Given the description of an element on the screen output the (x, y) to click on. 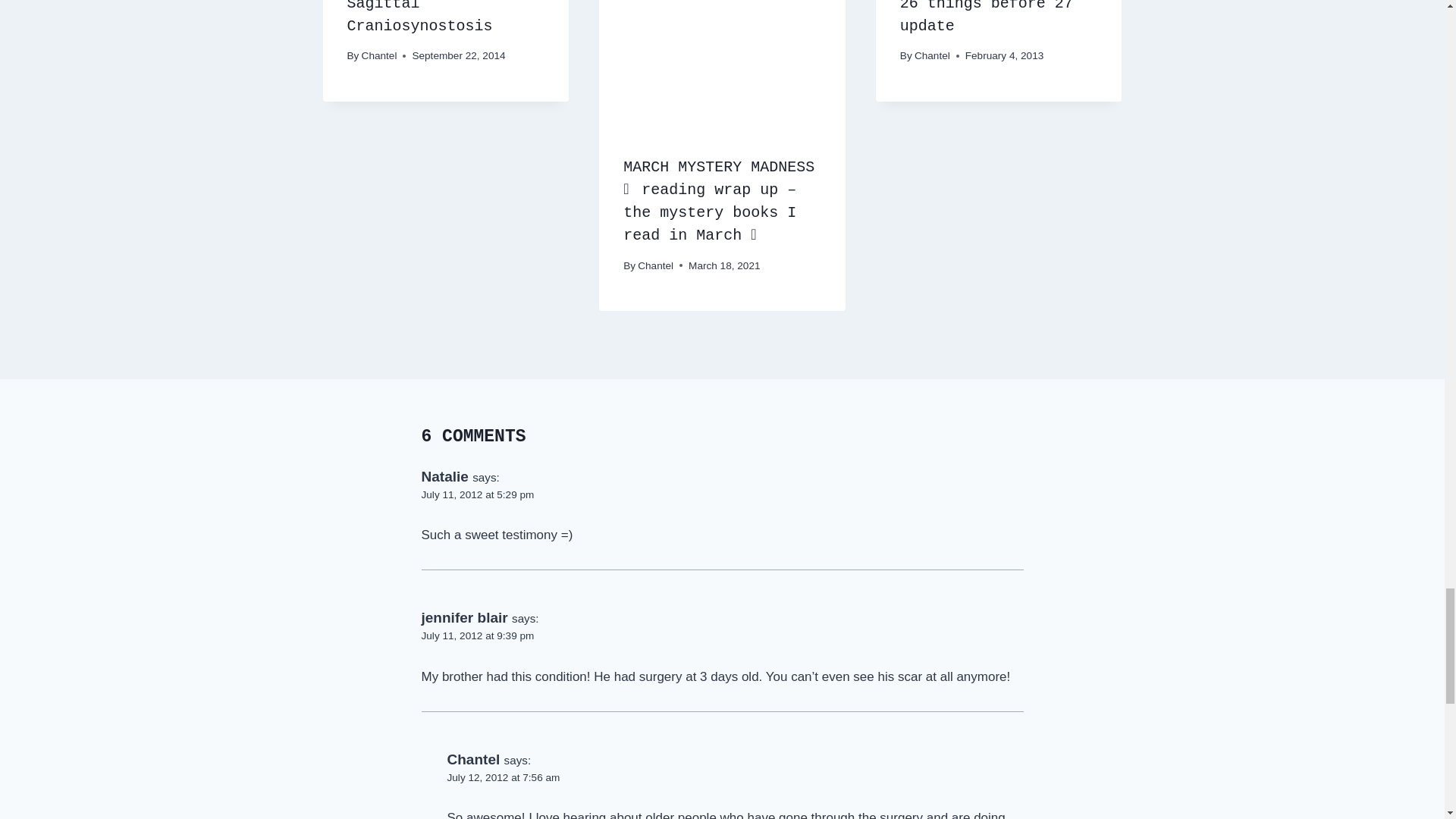
Chantel (379, 55)
Chantel (654, 265)
Sagittal Craniosynostosis (420, 17)
